Given the description of an element on the screen output the (x, y) to click on. 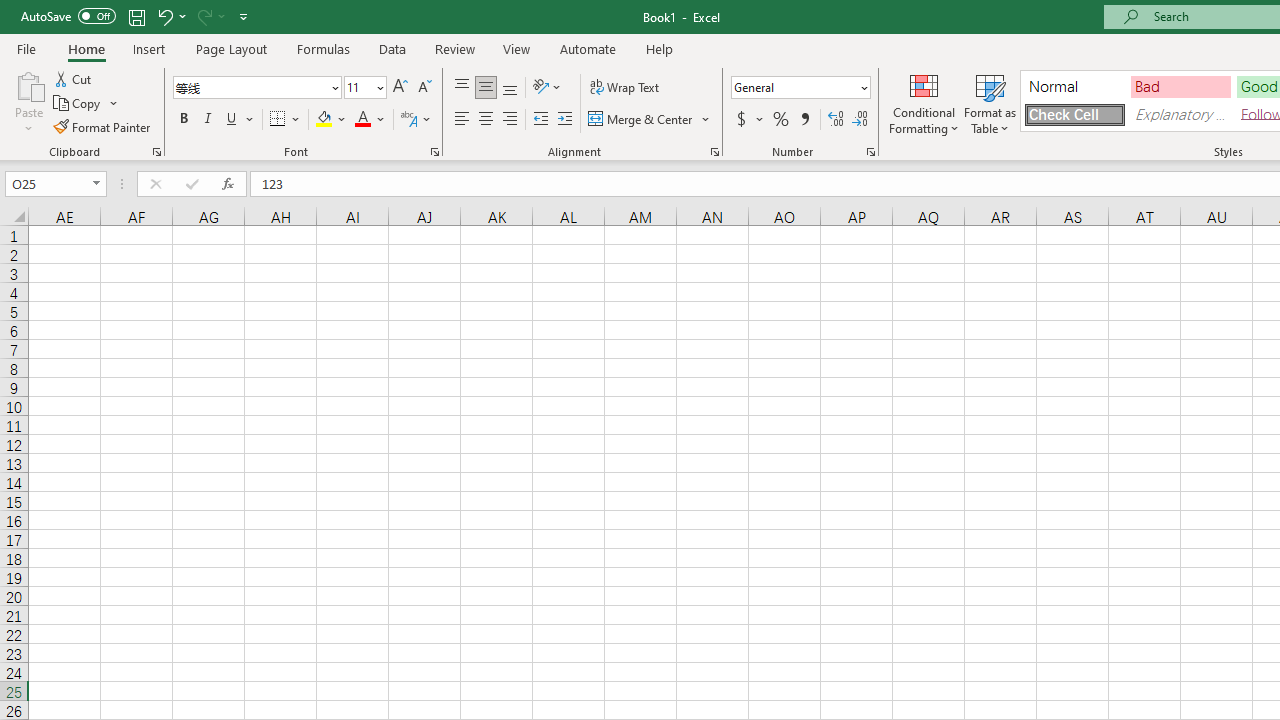
Align Left (461, 119)
Comma Style (804, 119)
Copy (78, 103)
